Given the description of an element on the screen output the (x, y) to click on. 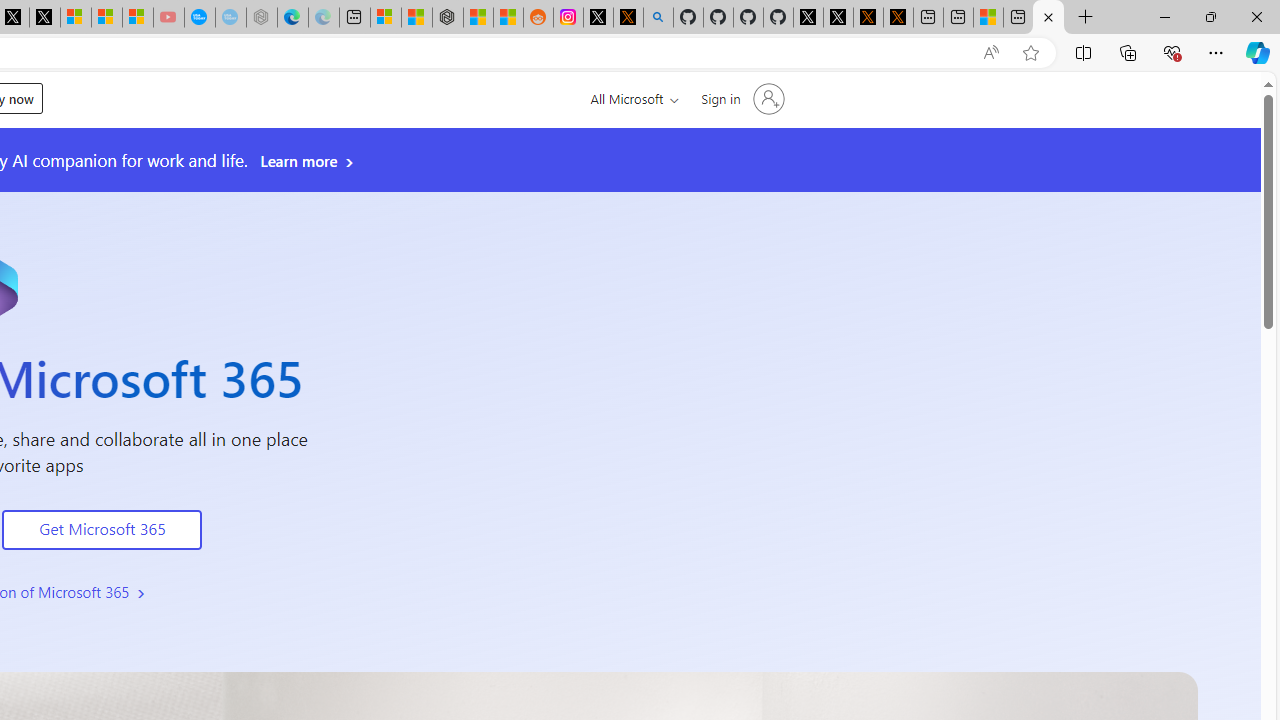
github - Search (658, 17)
Learn more (308, 161)
help.x.com | 524: A timeout occurred (628, 17)
Profile / X (808, 17)
Sign in to your account (740, 98)
